Given the description of an element on the screen output the (x, y) to click on. 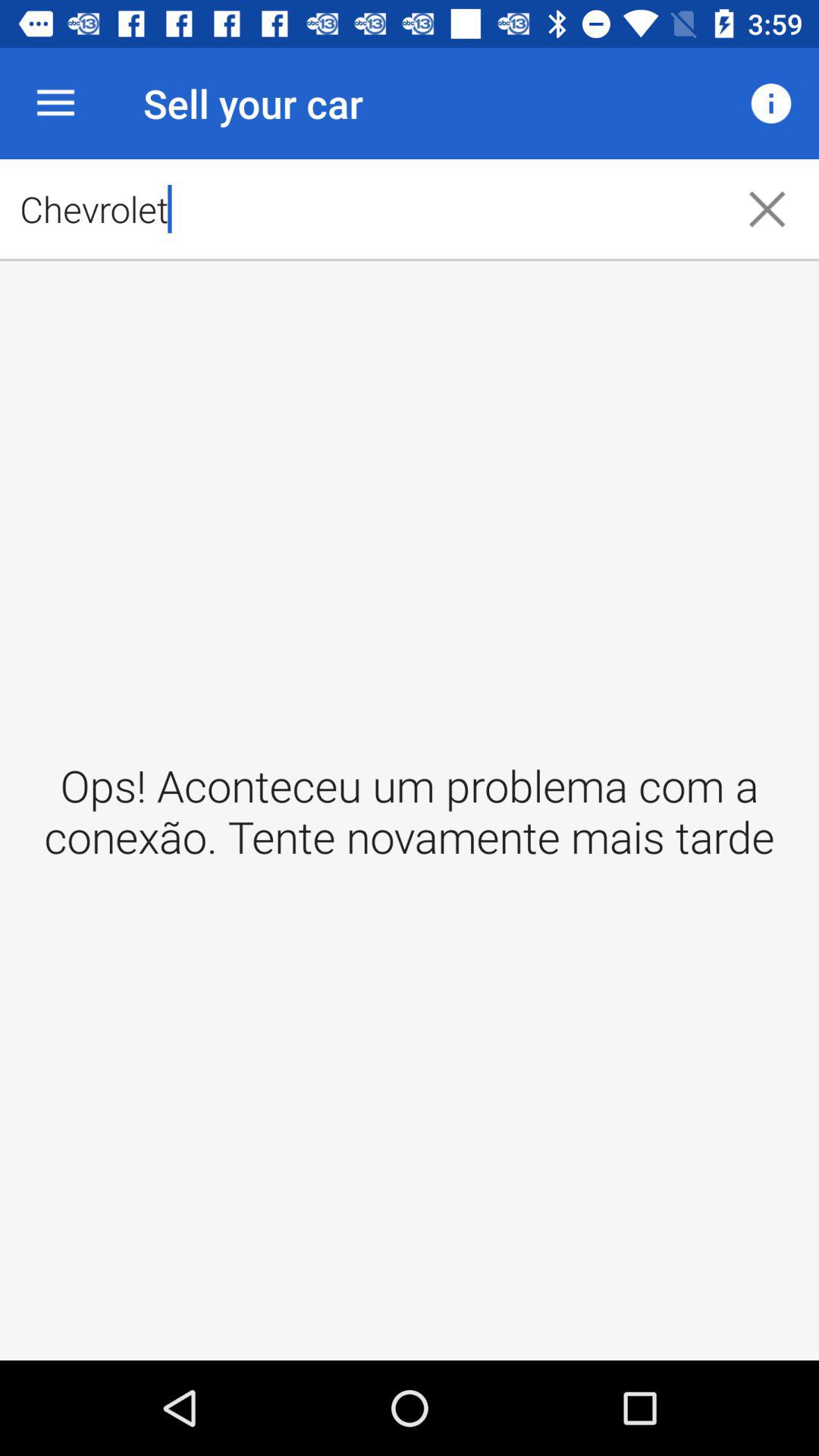
close (767, 208)
